Given the description of an element on the screen output the (x, y) to click on. 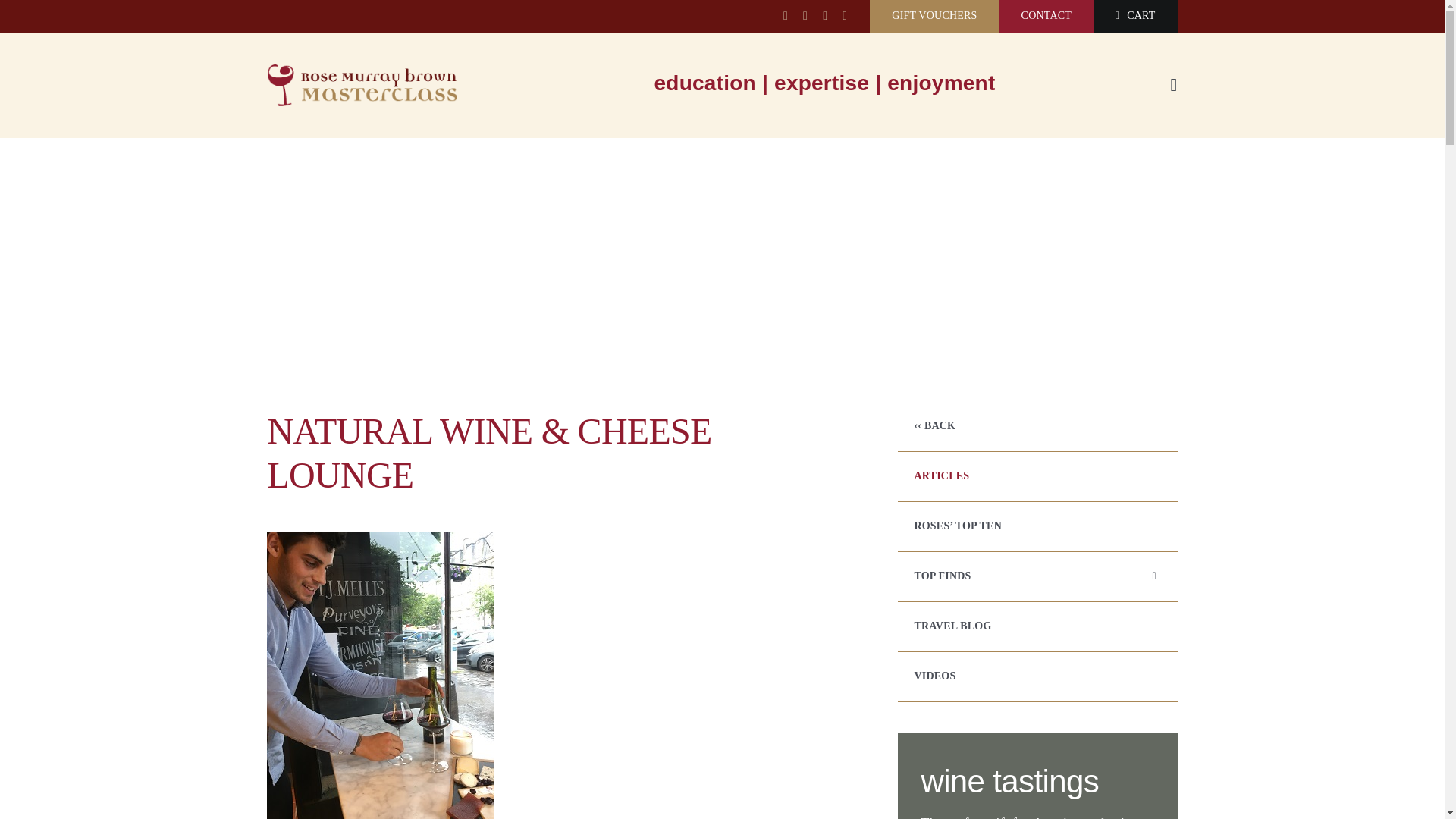
CONTACT (1045, 16)
VIDEOS (1037, 676)
TRAVEL BLOG (1037, 626)
CART (1134, 16)
TOP FINDS (1037, 576)
GIFT VOUCHERS (933, 16)
ARTICLES (1037, 476)
